Given the description of an element on the screen output the (x, y) to click on. 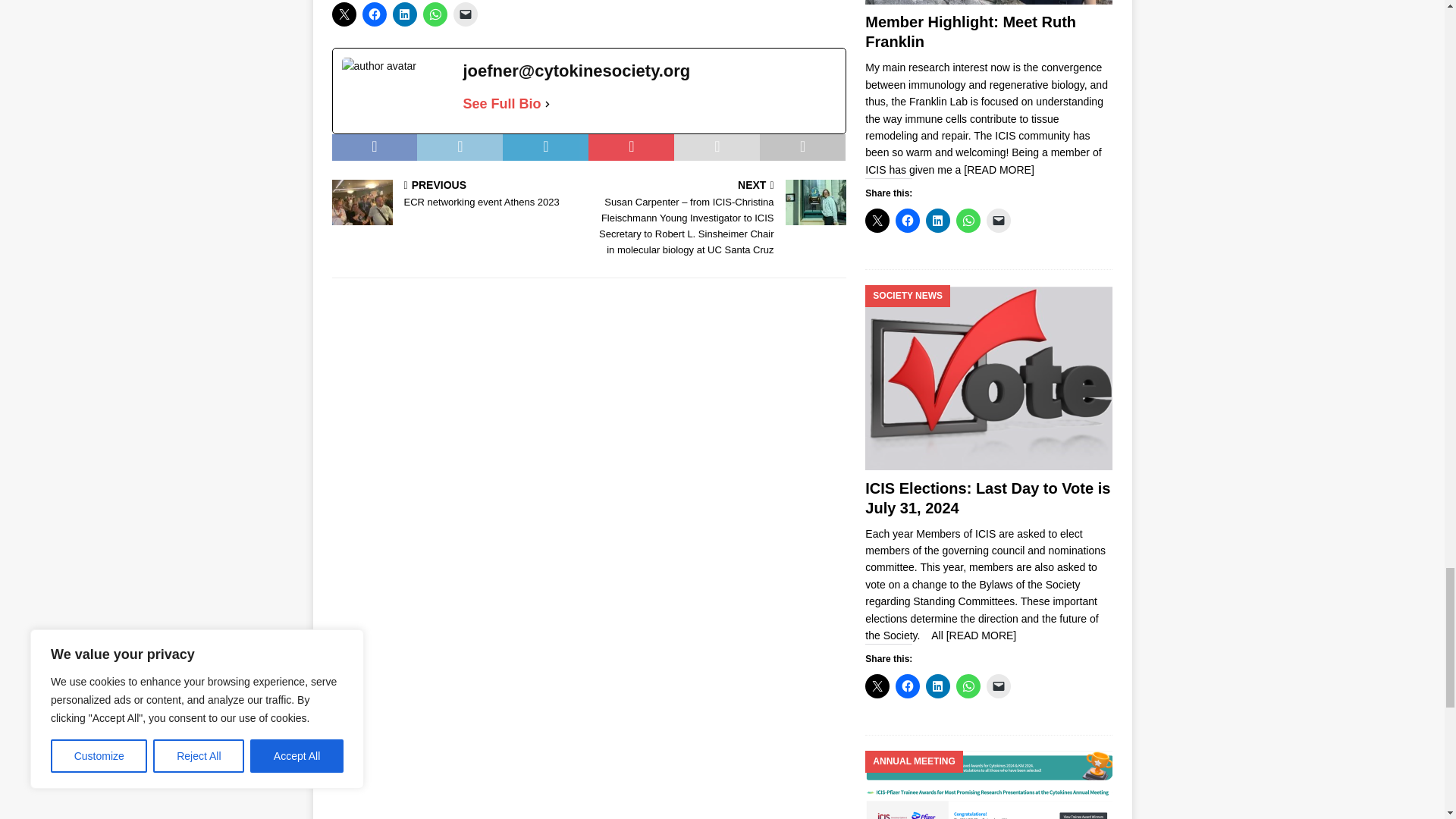
Click to share on LinkedIn (404, 14)
Click to share on Facebook (374, 14)
Click to share on WhatsApp (434, 14)
Click to email a link to a friend (464, 14)
Click to share on X (343, 14)
